Given the description of an element on the screen output the (x, y) to click on. 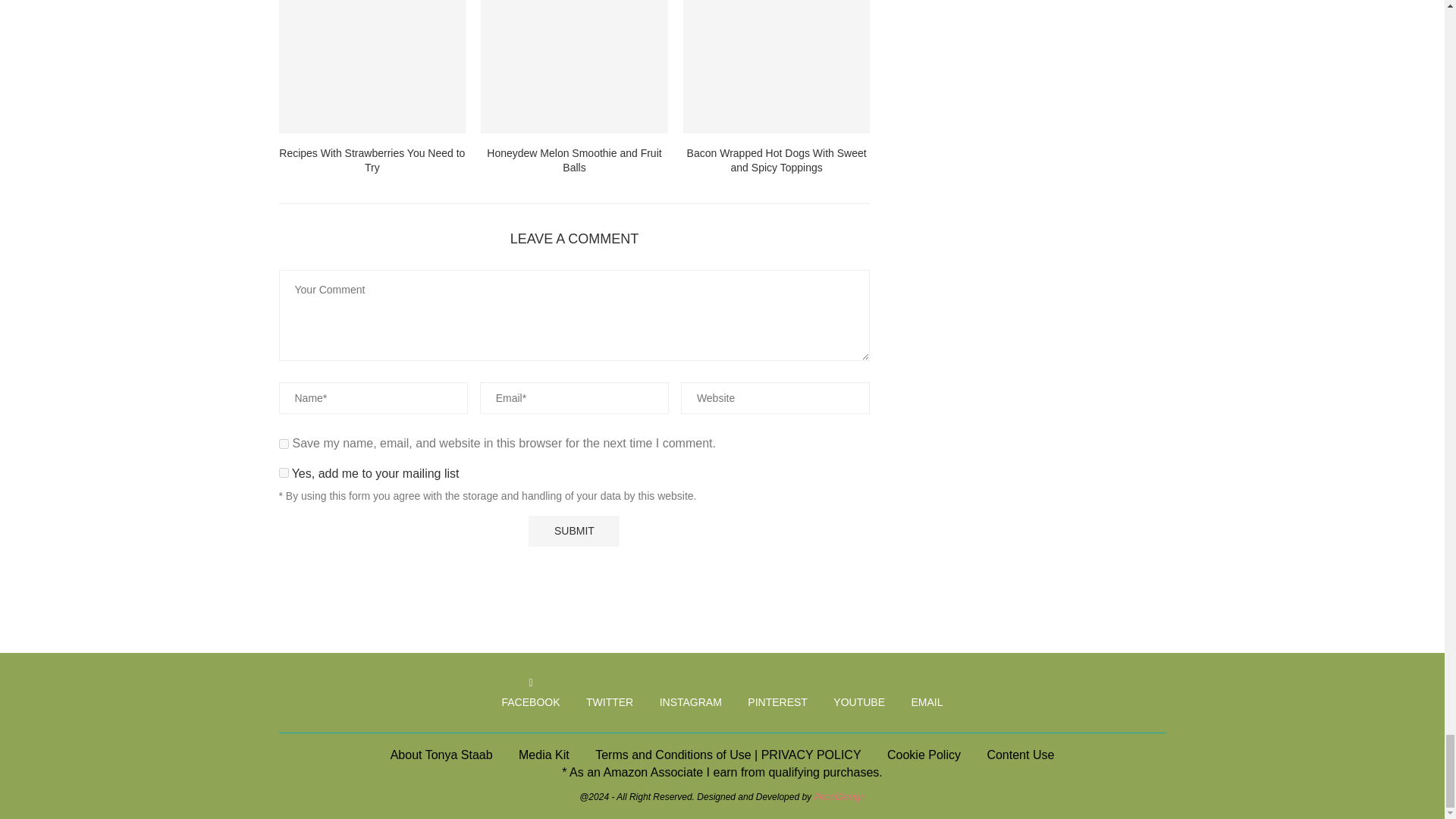
yes (283, 443)
1 (283, 472)
Submit (574, 531)
